Given the description of an element on the screen output the (x, y) to click on. 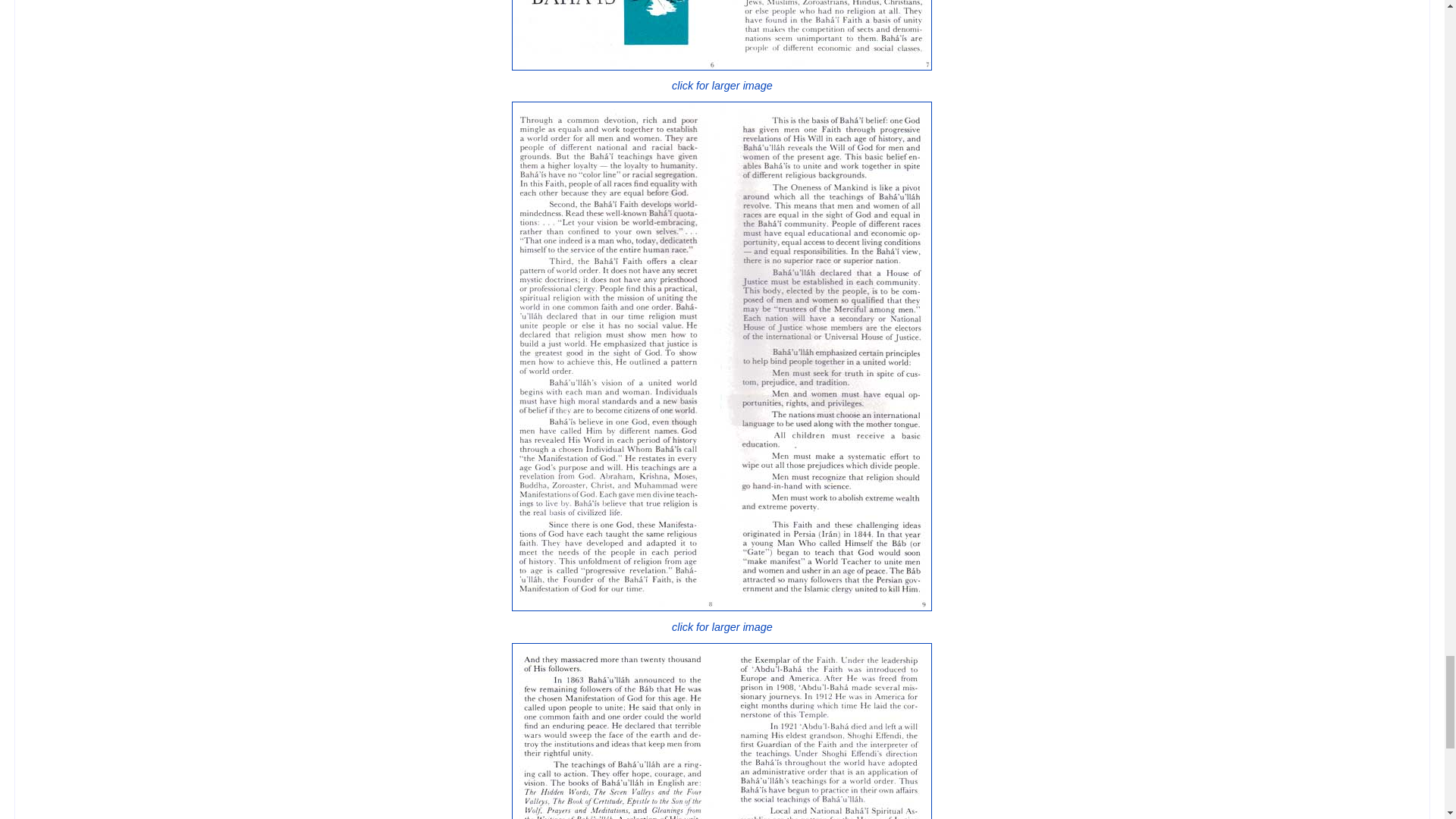
click for larger image (721, 619)
click for larger image (721, 78)
